Given the description of an element on the screen output the (x, y) to click on. 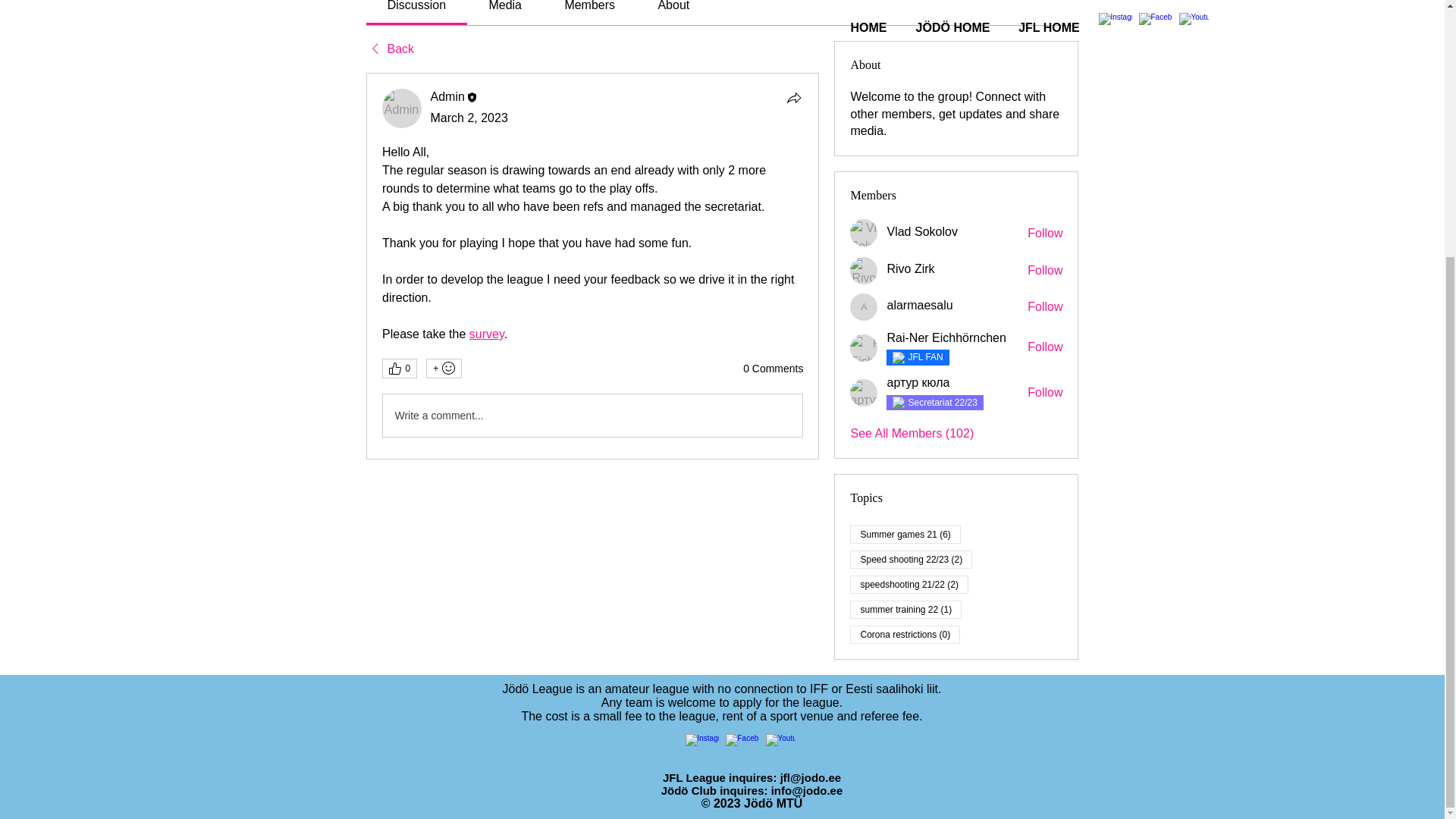
Vlad Sokolov (863, 232)
Follow (1044, 270)
Admin (401, 107)
Admin (447, 96)
alarmaesalu (863, 307)
Back (389, 48)
alarmaesalu (919, 305)
Write a comment... (591, 414)
Rivo Zirk (910, 269)
